Given the description of an element on the screen output the (x, y) to click on. 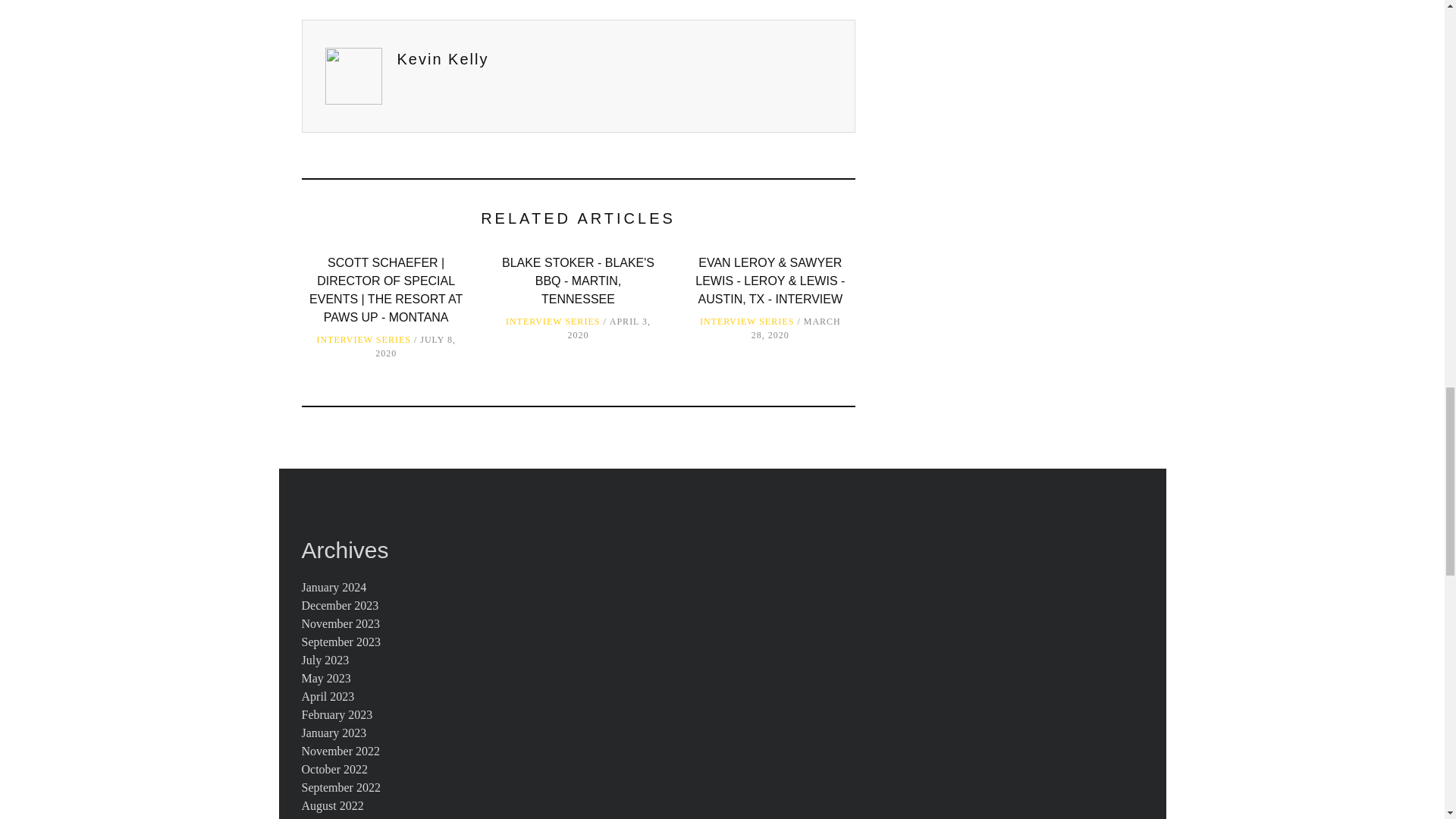
INTERVIEW SERIES (746, 321)
INTERVIEW SERIES (552, 321)
INTERVIEW SERIES (362, 339)
BLAKE STOKER - BLAKE'S BBQ - MARTIN, TENNESSEE (577, 280)
Kevin Kelly (443, 58)
